Given the description of an element on the screen output the (x, y) to click on. 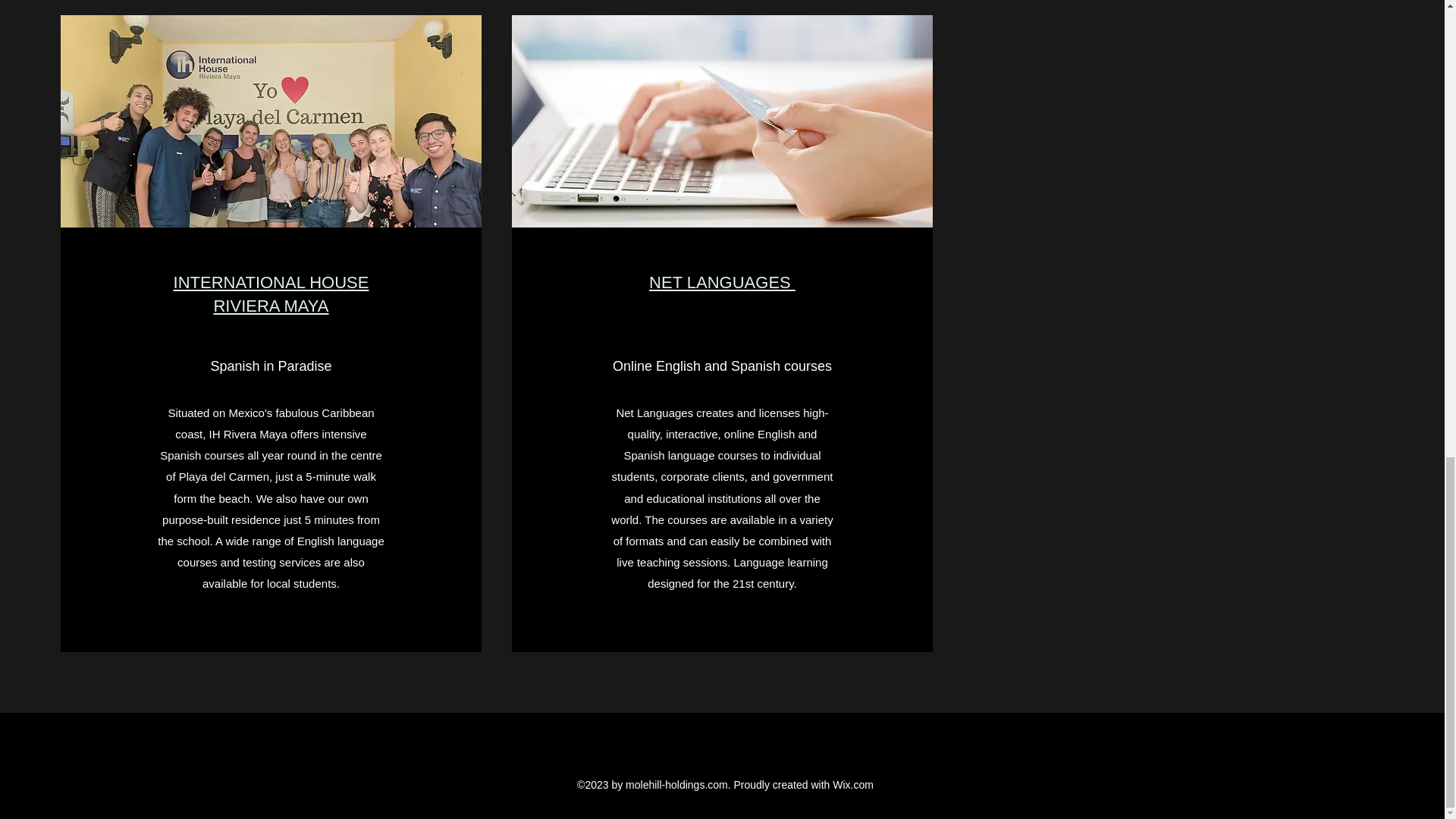
NET LANGUAGES  (721, 281)
INTERNATIONAL HOUSE RIVIERA MAYA (271, 293)
